Given the description of an element on the screen output the (x, y) to click on. 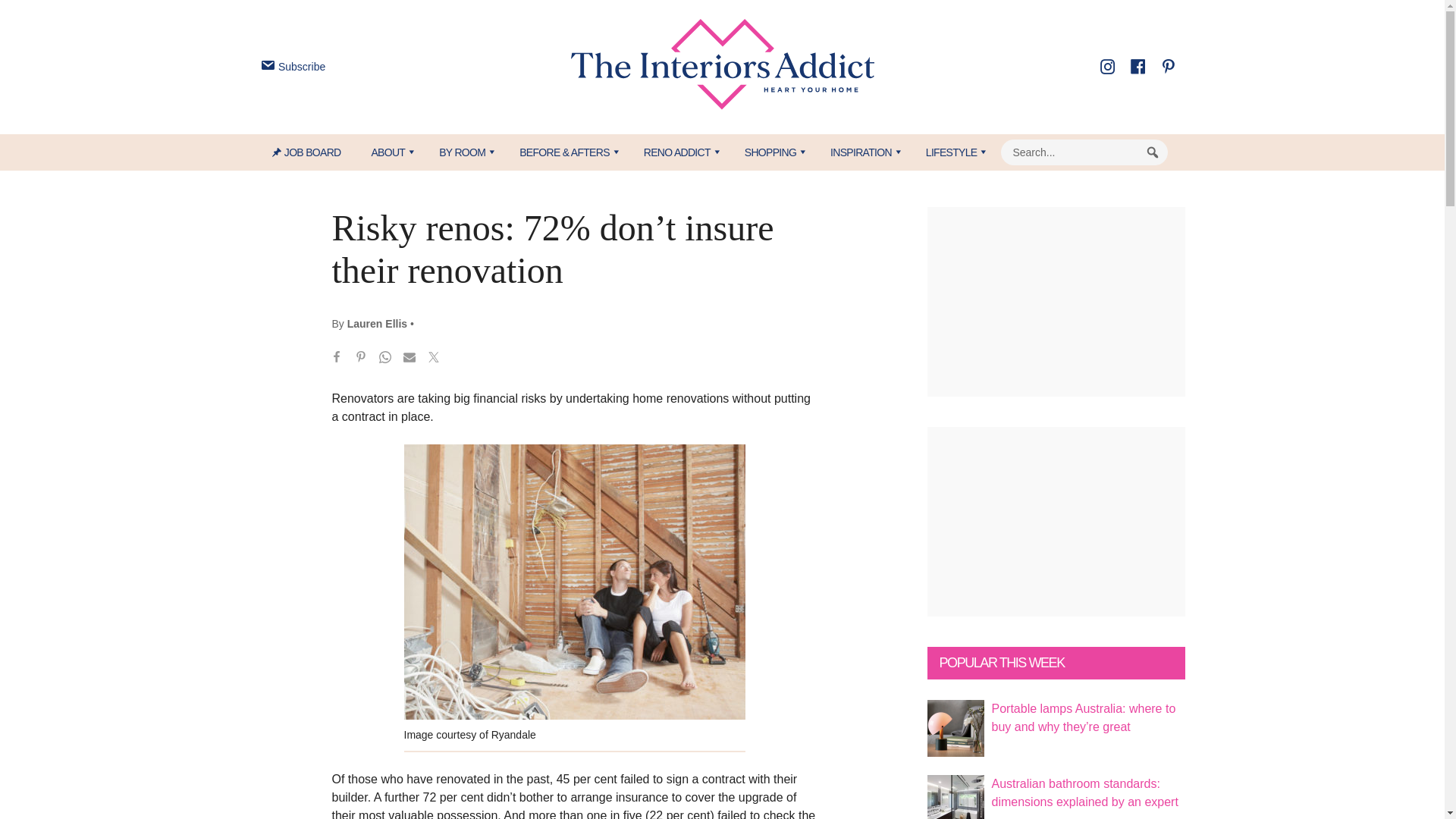
Share on Pinterest (360, 359)
Search (1152, 151)
ABOUT (389, 152)
Share via Email (409, 359)
YES PLEASE! (793, 294)
Share on Facebook (336, 359)
Share on Twitter (433, 359)
Subscribe (291, 66)
JOB BOARD (313, 152)
